Given the description of an element on the screen output the (x, y) to click on. 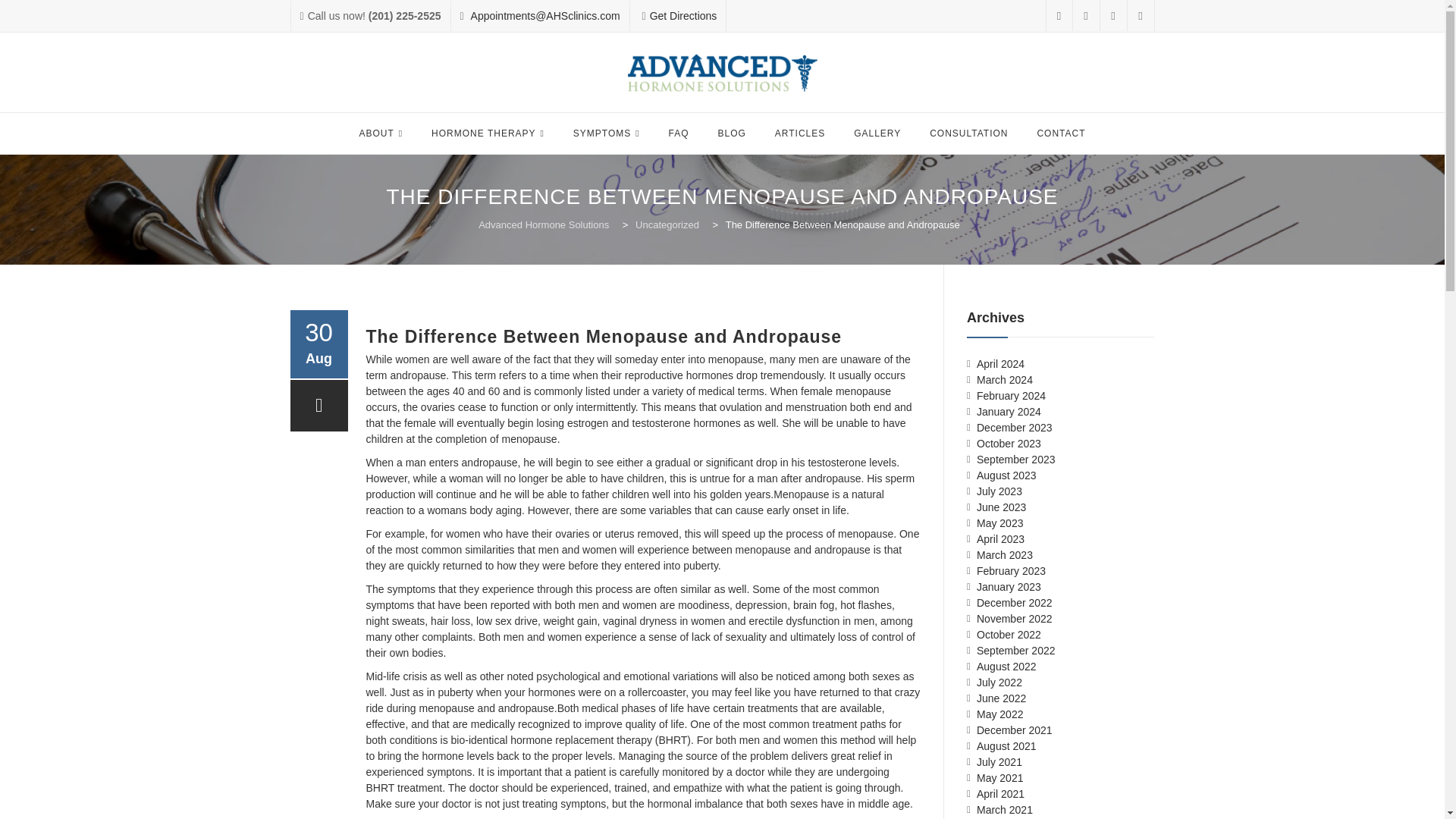
Go to Advanced Hormone Solutions. (545, 224)
ABOUT (380, 133)
GALLERY (877, 133)
Go to the Uncategorized Category archives. (668, 224)
Uncategorized (668, 224)
CONTACT (1060, 133)
Get Directions (683, 15)
SYMPTOMS (606, 133)
FAQ (678, 133)
Advanced Hormone Solutions (721, 72)
HORMONE THERAPY (488, 133)
CONSULTATION (968, 133)
ARTICLES (799, 133)
